Given the description of an element on the screen output the (x, y) to click on. 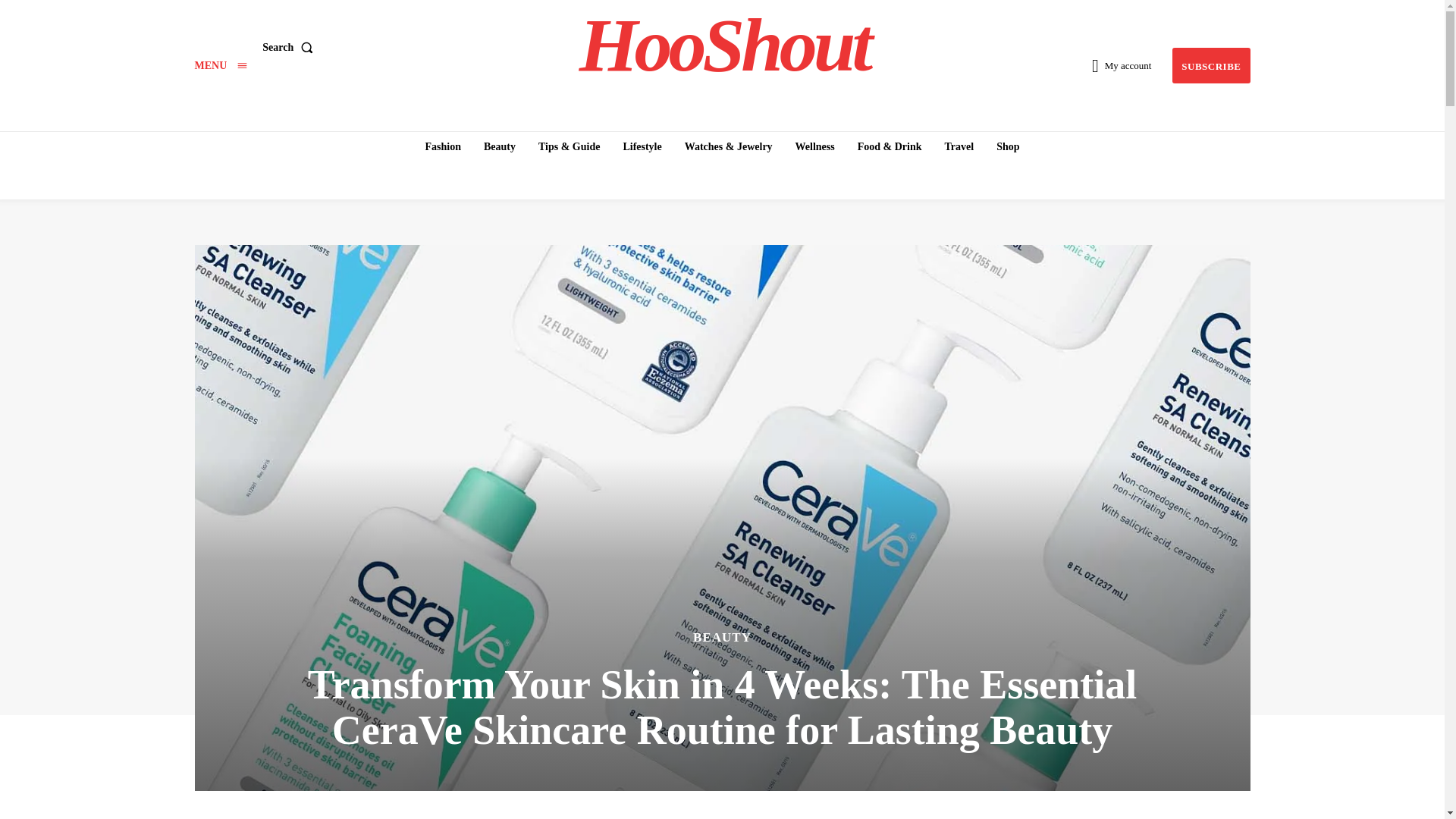
Lifestyle (641, 146)
Fashion (441, 146)
HooShout (724, 45)
Menu (220, 65)
MENU (220, 65)
Beauty (499, 146)
SUBSCRIBE (1210, 65)
Search (290, 47)
Subscribe (1210, 65)
Wellness (815, 146)
